Given the description of an element on the screen output the (x, y) to click on. 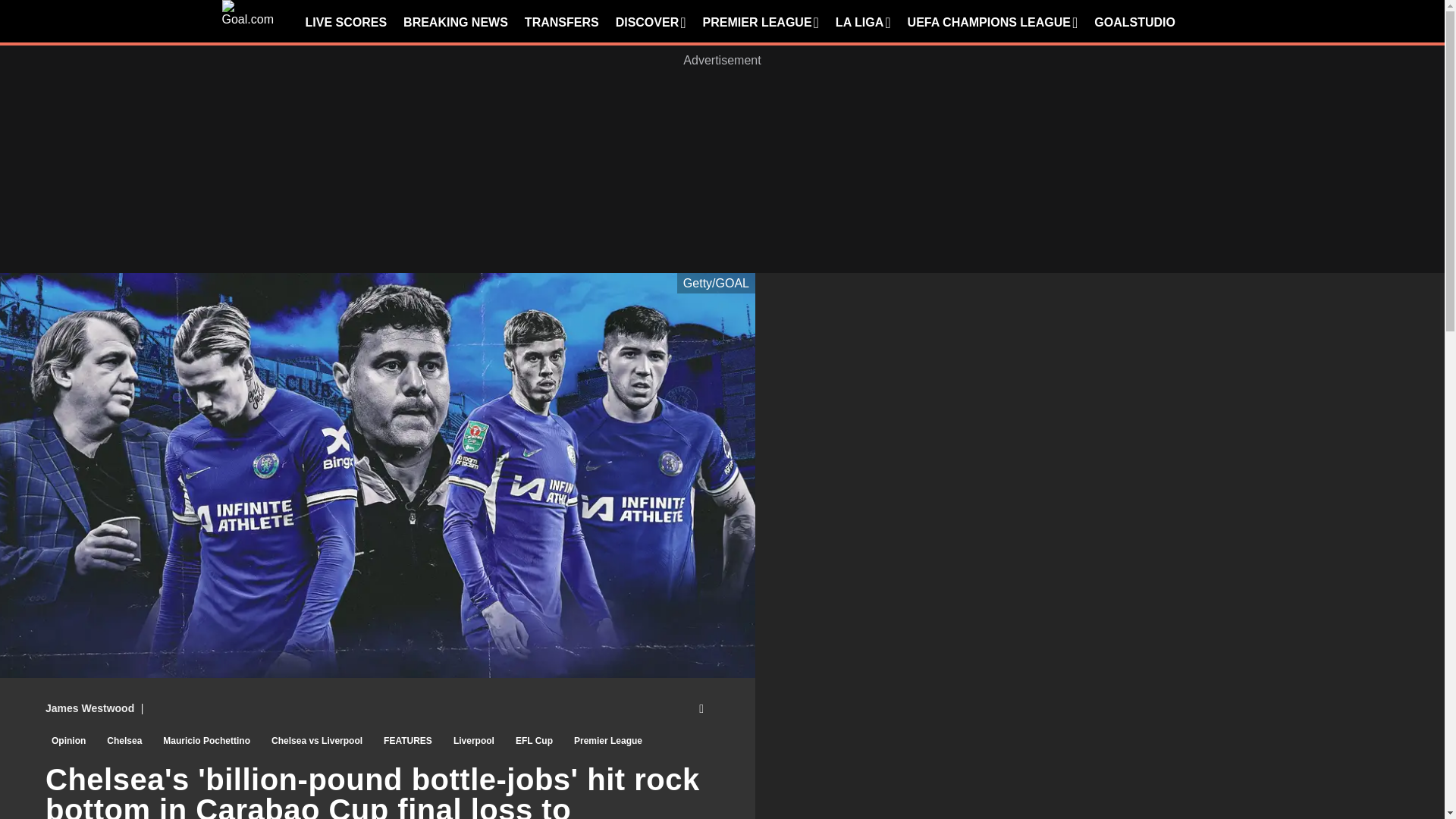
Liverpool (473, 742)
TRANSFERS (561, 22)
Opinion (68, 742)
BREAKING NEWS (455, 22)
Chelsea (124, 742)
Mauricio Pochettino (206, 742)
EFL Cup (534, 742)
LIVE SCORES (345, 22)
FEATURES (407, 742)
DISCOVER (650, 22)
Chelsea vs Liverpool (316, 742)
Premier League (607, 742)
PREMIER LEAGUE (760, 22)
